Given the description of an element on the screen output the (x, y) to click on. 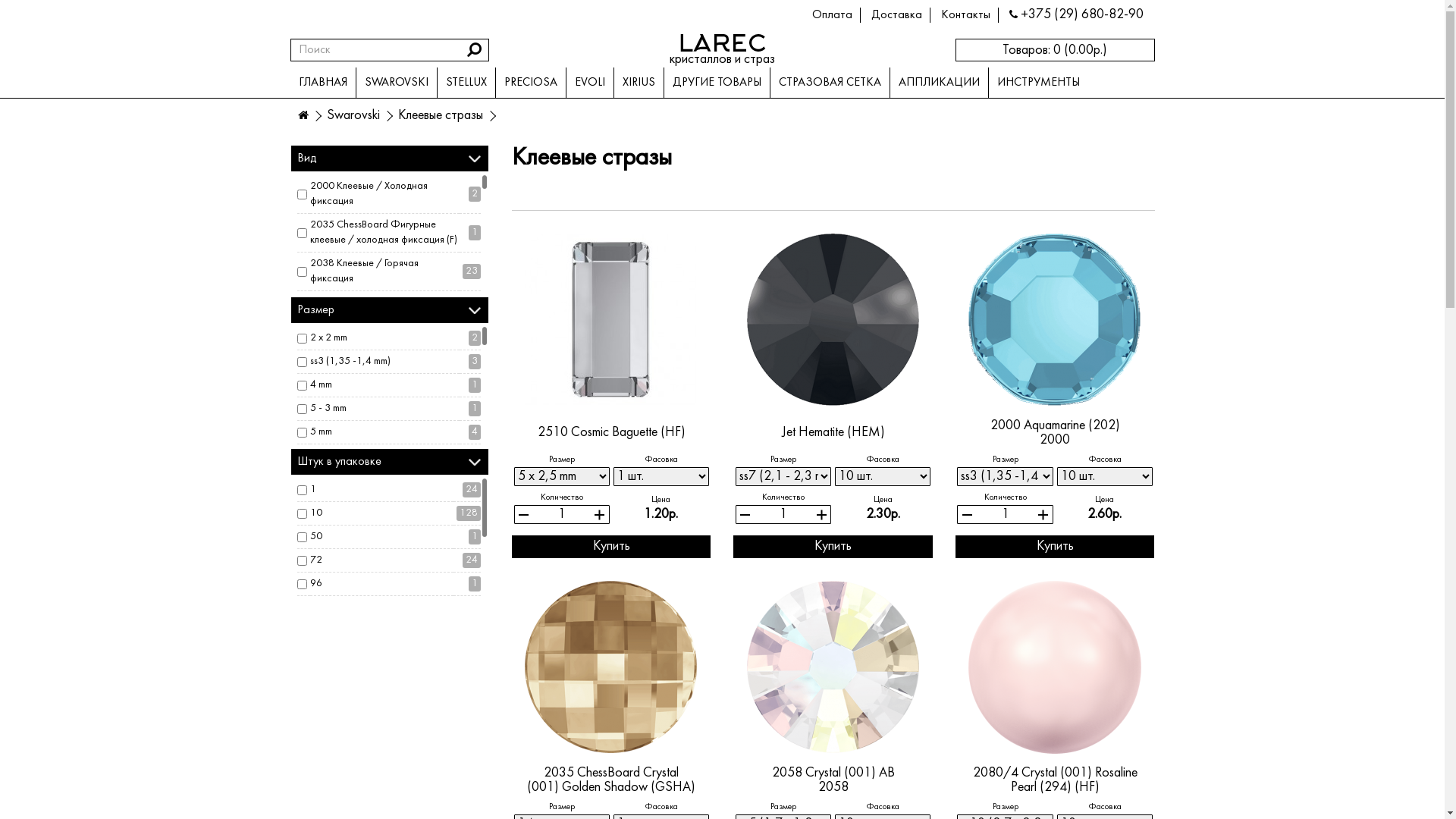
EVOLI Element type: text (589, 82)
SWAROVSKI Element type: text (395, 82)
2510 Cosmic Baguette (HF) Element type: text (611, 432)
2080/4 Crystal (001) Rosaline Pearl (294) (HF) Element type: text (1054, 780)
XIRIUS Element type: text (637, 82)
2035 ChessBoard Crystal (001) Golden Shadow (GSHA) Element type: hover (610, 666)
 Jet Hematite (HEM) Element type: hover (832, 319)
PRECIOSA Element type: text (529, 82)
 2510 Cosmic Baguette (HF) Element type: hover (610, 319)
2080/4 Crystal (001)  Rosaline Pearl (294) (HF) Element type: hover (1054, 666)
2000 Aquamarine (202) Element type: hover (1054, 319)
STELLUX Element type: text (465, 82)
2035 ChessBoard Crystal (001) Golden Shadow (GSHA) Element type: text (611, 780)
2058 Crystal (001) AB Element type: text (832, 773)
Jet Hematite (HEM) Element type: text (832, 432)
2000 Element type: text (1054, 440)
2000 Aquamarine (202) Element type: text (1055, 425)
Swarovski Element type: text (352, 115)
2058 Crystal (001) AB Element type: hover (832, 666)
2058 Element type: text (833, 787)
